Given the description of an element on the screen output the (x, y) to click on. 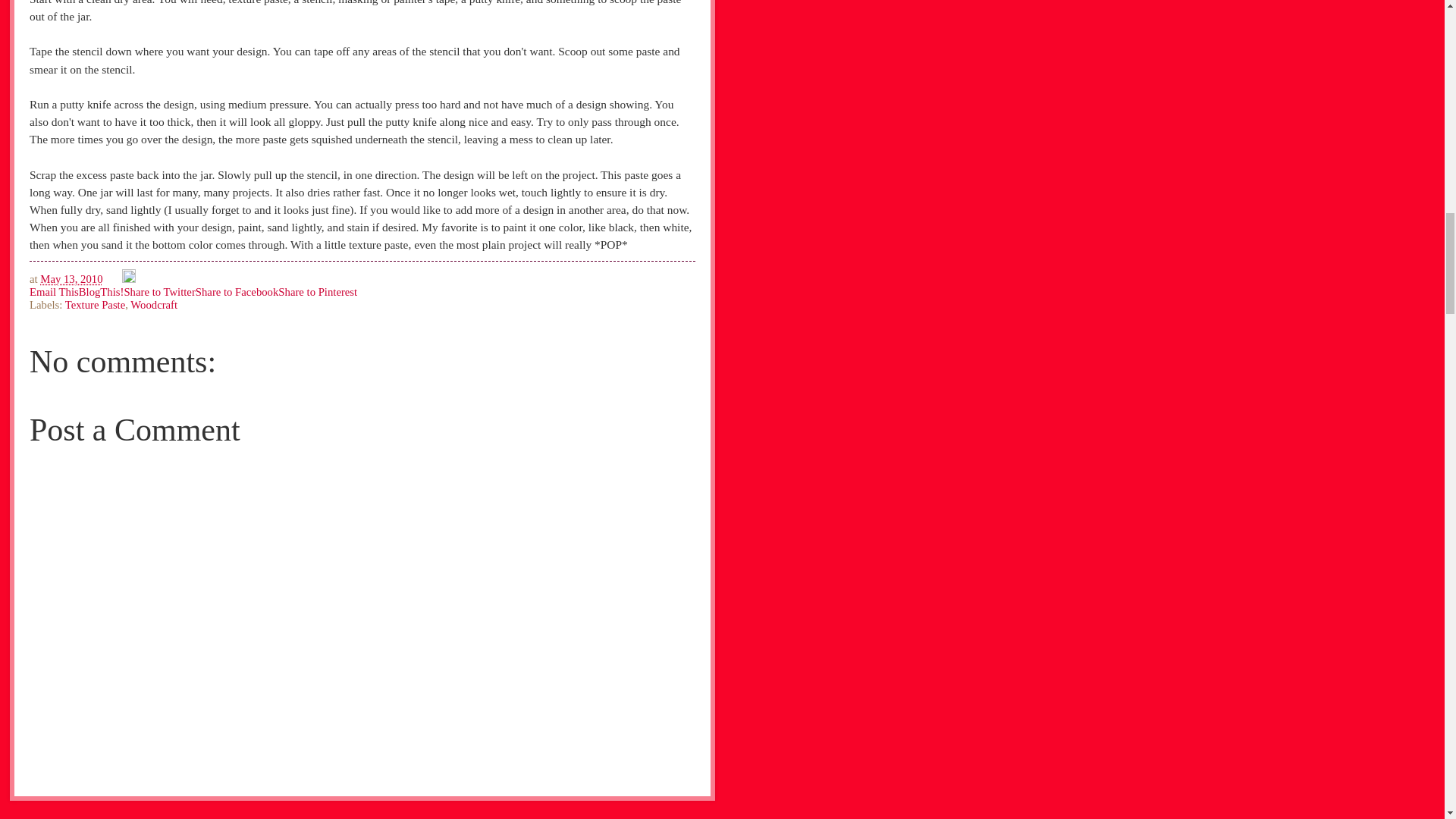
Share to Pinterest (317, 291)
Share to Twitter (159, 291)
Share to Twitter (159, 291)
Texture Paste (95, 304)
BlogThis! (100, 291)
Share to Facebook (237, 291)
Edit Post (128, 278)
Email This (53, 291)
May 13, 2010 (70, 278)
Share to Pinterest (317, 291)
Email Post (113, 278)
Woodcraft (154, 304)
Email This (53, 291)
permanent link (70, 278)
BlogThis! (100, 291)
